Given the description of an element on the screen output the (x, y) to click on. 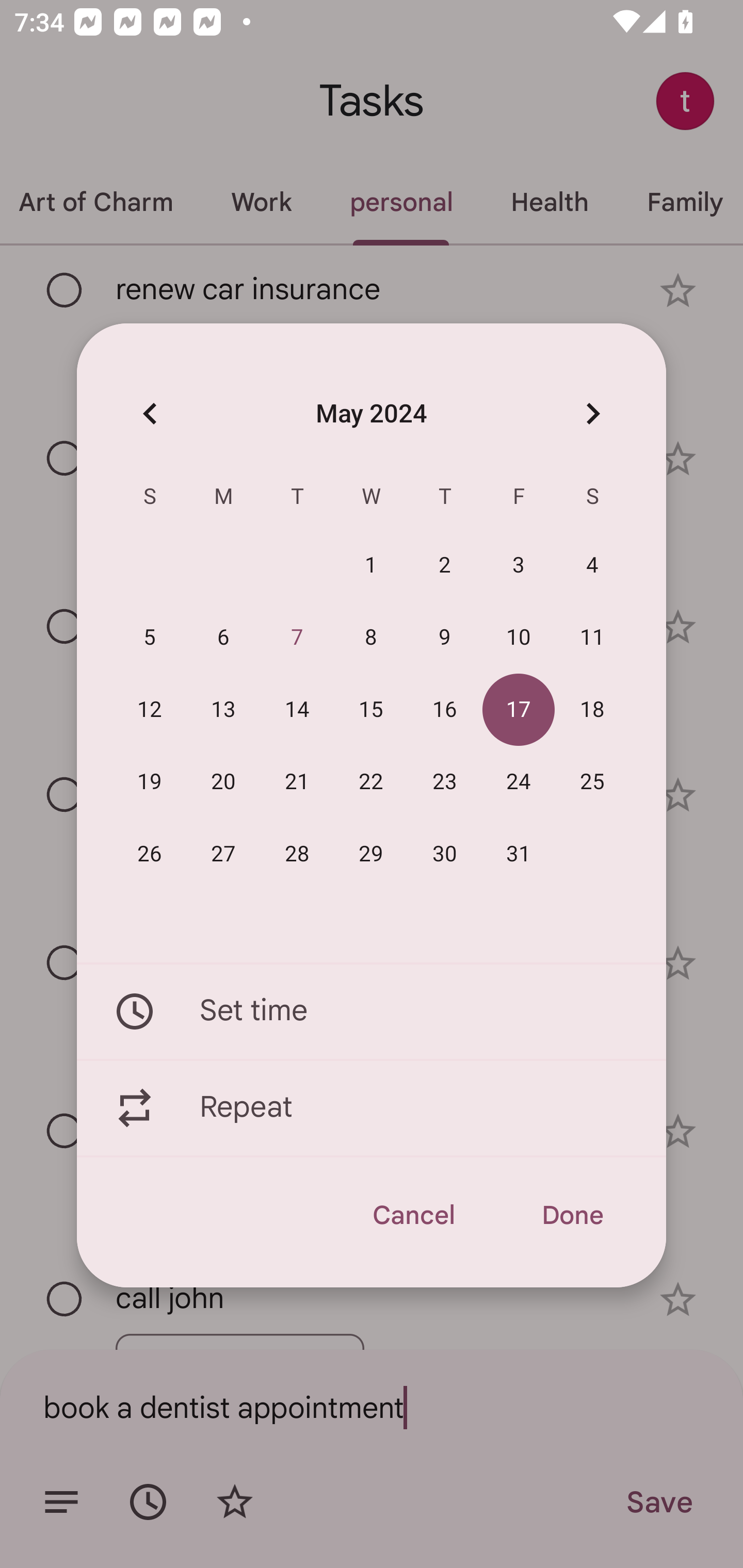
Previous month (149, 413)
Next month (592, 413)
1 01 May 2024 (370, 565)
2 02 May 2024 (444, 565)
3 03 May 2024 (518, 565)
4 04 May 2024 (592, 565)
5 05 May 2024 (149, 638)
6 06 May 2024 (223, 638)
7 07 May 2024 (297, 638)
8 08 May 2024 (370, 638)
9 09 May 2024 (444, 638)
10 10 May 2024 (518, 638)
11 11 May 2024 (592, 638)
12 12 May 2024 (149, 710)
13 13 May 2024 (223, 710)
14 14 May 2024 (297, 710)
15 15 May 2024 (370, 710)
16 16 May 2024 (444, 710)
17 17 May 2024 (518, 710)
18 18 May 2024 (592, 710)
19 19 May 2024 (149, 782)
20 20 May 2024 (223, 782)
21 21 May 2024 (297, 782)
22 22 May 2024 (370, 782)
23 23 May 2024 (444, 782)
24 24 May 2024 (518, 782)
25 25 May 2024 (592, 782)
26 26 May 2024 (149, 854)
27 27 May 2024 (223, 854)
28 28 May 2024 (297, 854)
29 29 May 2024 (370, 854)
30 30 May 2024 (444, 854)
31 31 May 2024 (518, 854)
Set time (371, 1011)
Repeat (371, 1108)
Cancel (412, 1215)
Done (571, 1215)
